Given the description of an element on the screen output the (x, y) to click on. 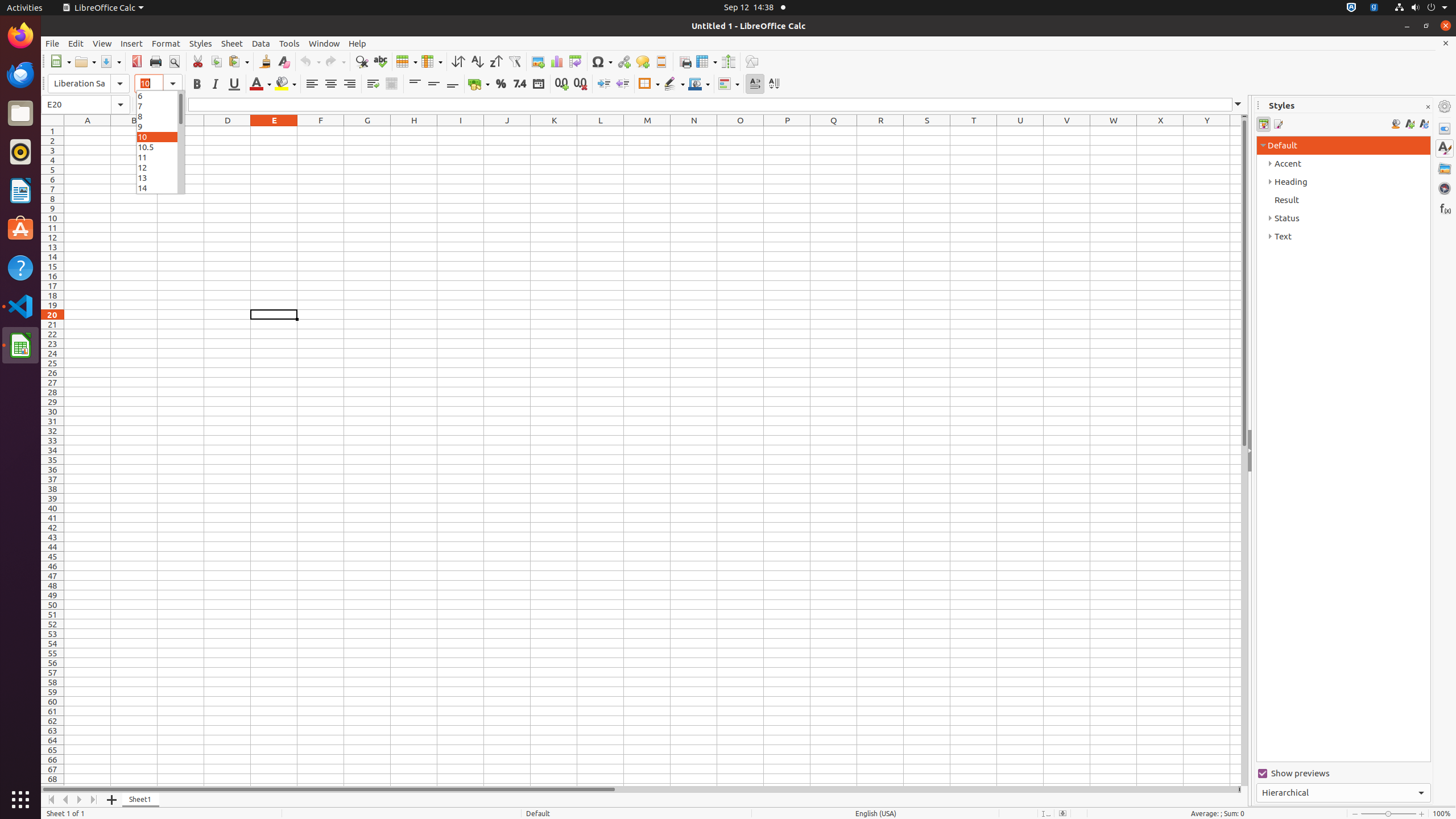
:1.21/StatusNotifierItem Element type: menu (1373, 7)
Print Area Element type: push-button (684, 61)
M1 Element type: table-cell (646, 130)
Format Element type: menu (165, 43)
Pivot Table Element type: push-button (574, 61)
